Given the description of an element on the screen output the (x, y) to click on. 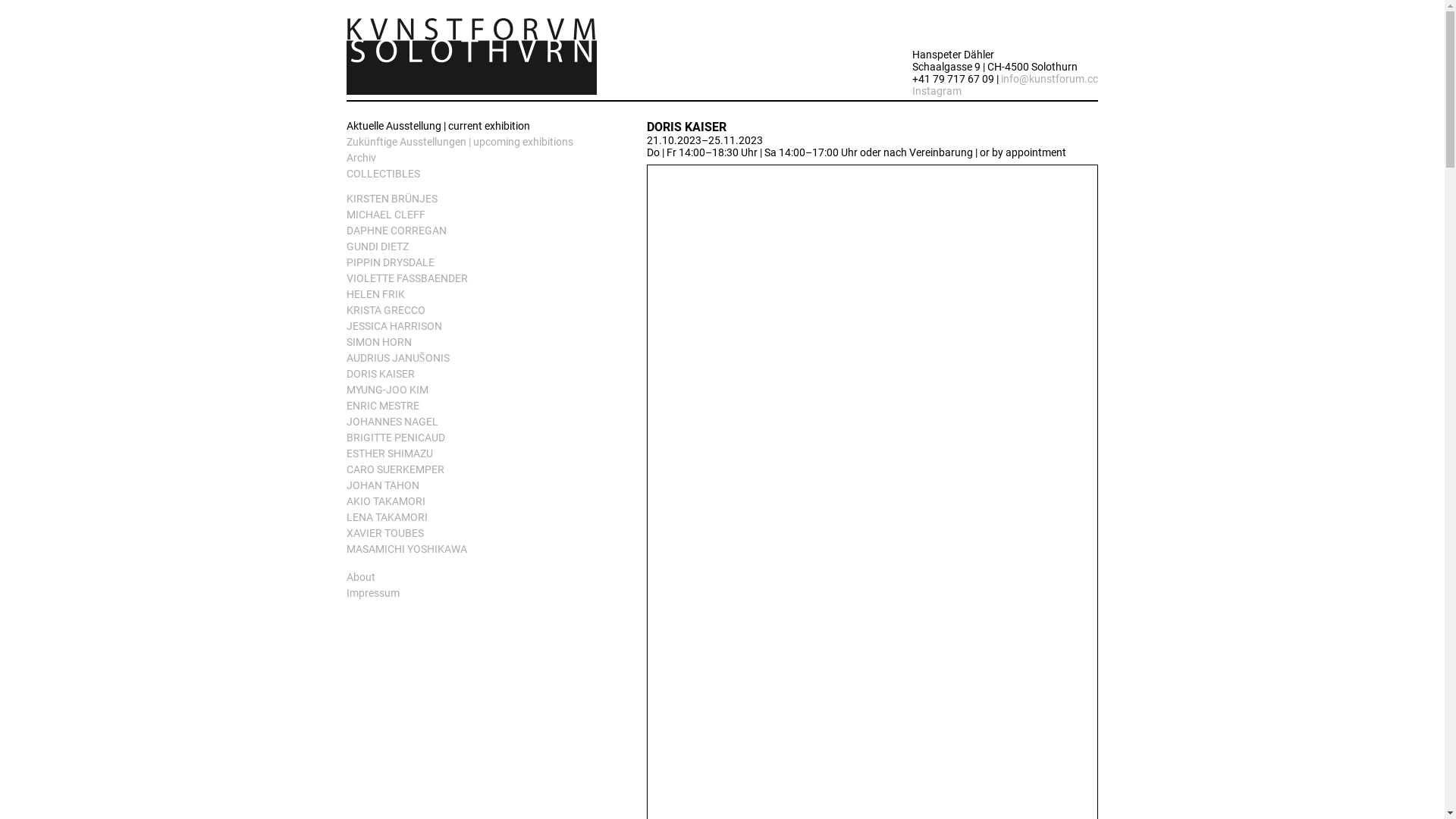
VIOLETTE FASSBAENDER Element type: text (469, 280)
CARO SUERKEMPER Element type: text (469, 471)
XAVIER TOUBES Element type: text (469, 534)
JOHAN TAHON Element type: text (469, 487)
Aktuelle Ausstellung | current exhibition Element type: text (469, 127)
LENA TAKAMORI Element type: text (469, 519)
ESTHER SHIMAZU Element type: text (469, 455)
HELEN FRIK Element type: text (469, 296)
AKIO TAKAMORI Element type: text (469, 503)
SIMON HORN Element type: text (469, 343)
DORIS KAISER Element type: text (469, 375)
cc.muroftsnuk@ofni Element type: text (1049, 78)
GUNDI DIETZ Element type: text (469, 248)
BRIGITTE PENICAUD Element type: text (469, 439)
Archiv Element type: text (469, 159)
JOHANNES NAGEL Element type: text (469, 423)
PIPPIN DRYSDALE Element type: text (469, 264)
ENRIC MESTRE Element type: text (469, 407)
KRISTA GRECCO Element type: text (469, 312)
MICHAEL CLEFF Element type: text (469, 216)
About Element type: text (469, 578)
Impressum Element type: text (469, 594)
MASAMICHI YOSHIKAWA Element type: text (469, 550)
DAPHNE CORREGAN Element type: text (469, 232)
JESSICA HARRISON Element type: text (469, 327)
Instagram Element type: text (936, 90)
MYUNG-JOO KIM Element type: text (469, 391)
COLLECTIBLES Element type: text (469, 175)
